Given the description of an element on the screen output the (x, y) to click on. 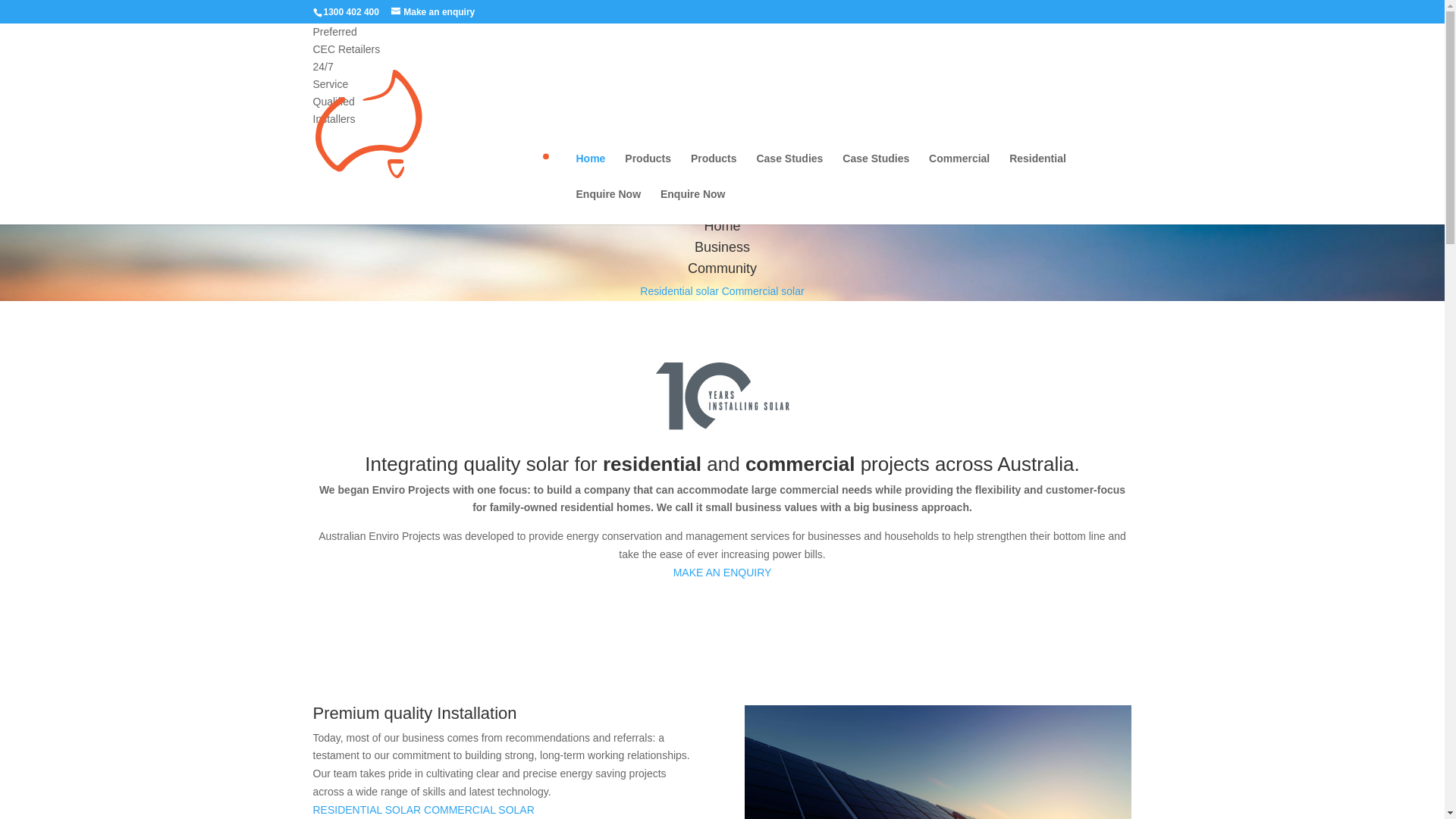
Case Studies Element type: text (789, 170)
COMMERCIAL SOLAR Element type: text (478, 809)
MAKE AN ENQUIRY Element type: text (722, 572)
Enquire Now Element type: text (608, 206)
Residential Element type: text (1037, 170)
Residential solar Element type: text (679, 291)
Make an enquiry Element type: text (432, 11)
Enquire Now Element type: text (692, 206)
RESIDENTIAL SOLAR Element type: text (366, 809)
Products Element type: text (647, 170)
Case Studies Element type: text (875, 170)
Home Element type: text (590, 170)
Commercial Element type: text (958, 170)
Products Element type: text (713, 170)
1300 402 400 Element type: text (351, 11)
Commercial solar Element type: text (762, 291)
